Given the description of an element on the screen output the (x, y) to click on. 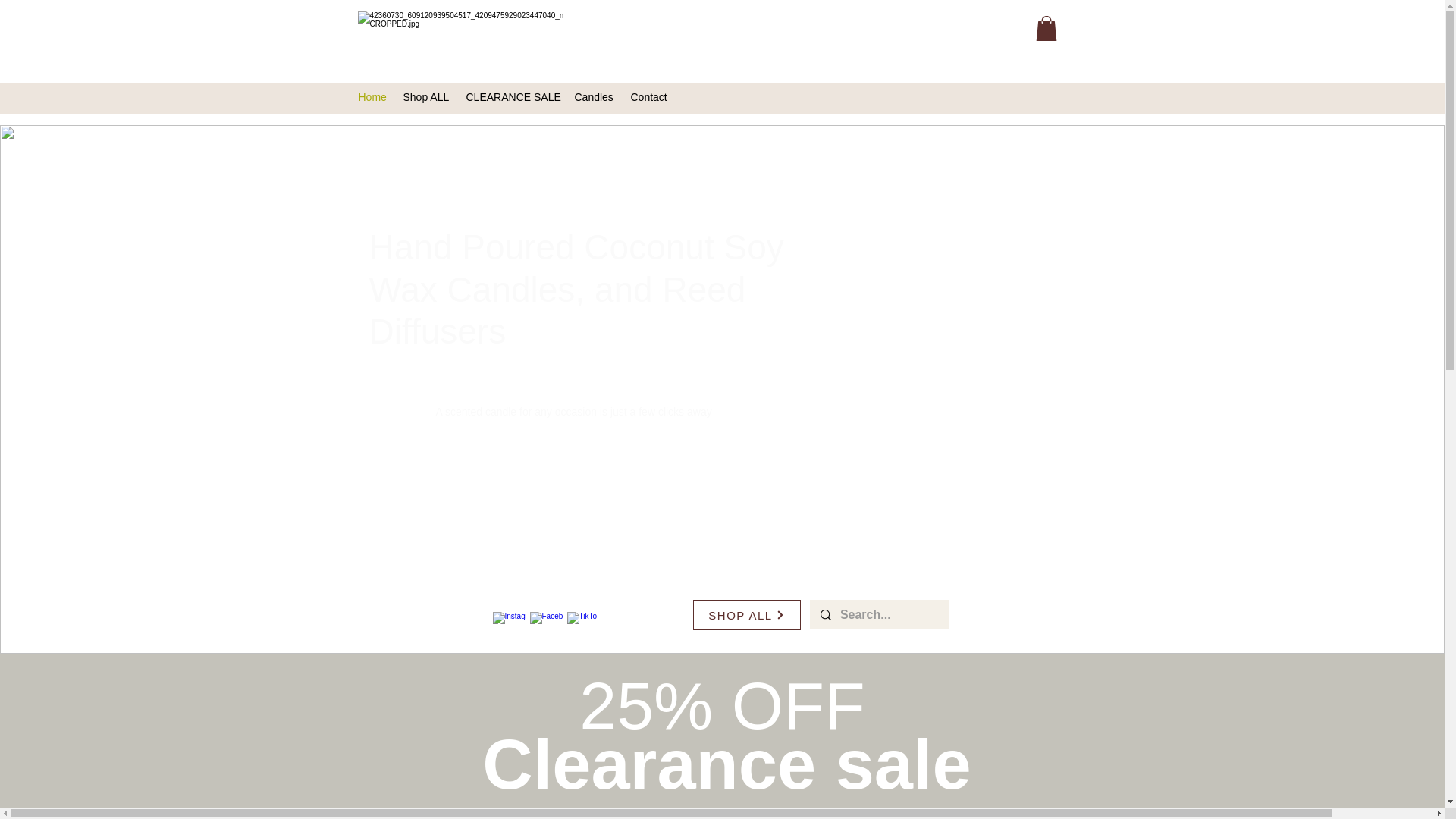
Candles (595, 96)
Contact (650, 96)
CLEARANCE SALE (512, 96)
SHOP ALL (746, 614)
Shop Now (722, 816)
Shop ALL (427, 96)
Home (372, 96)
